Given the description of an element on the screen output the (x, y) to click on. 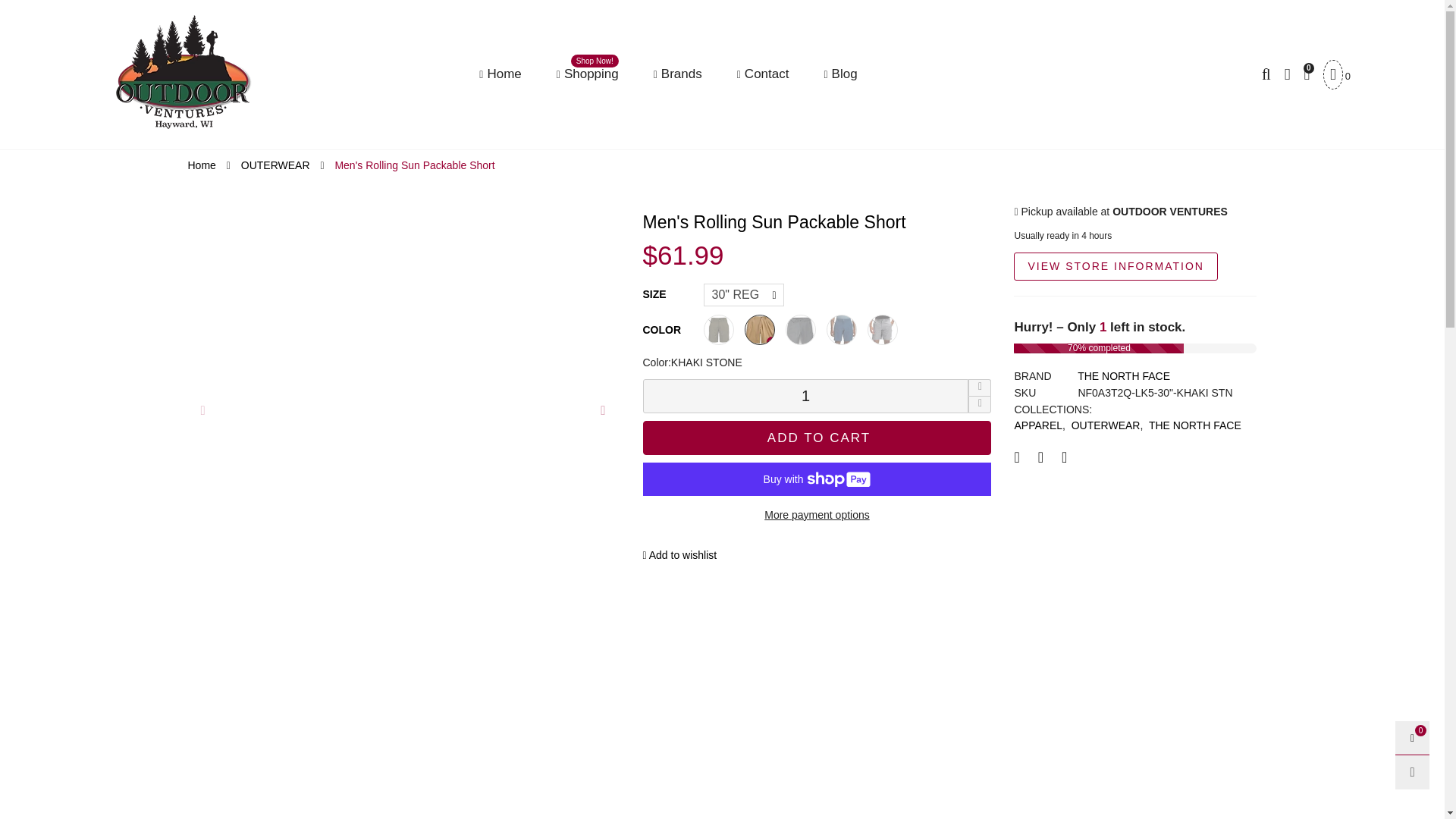
Home (500, 73)
Shopping (587, 73)
Outdoor Ventures (587, 73)
Brands (183, 71)
Home (677, 73)
1 (500, 73)
